Given the description of an element on the screen output the (x, y) to click on. 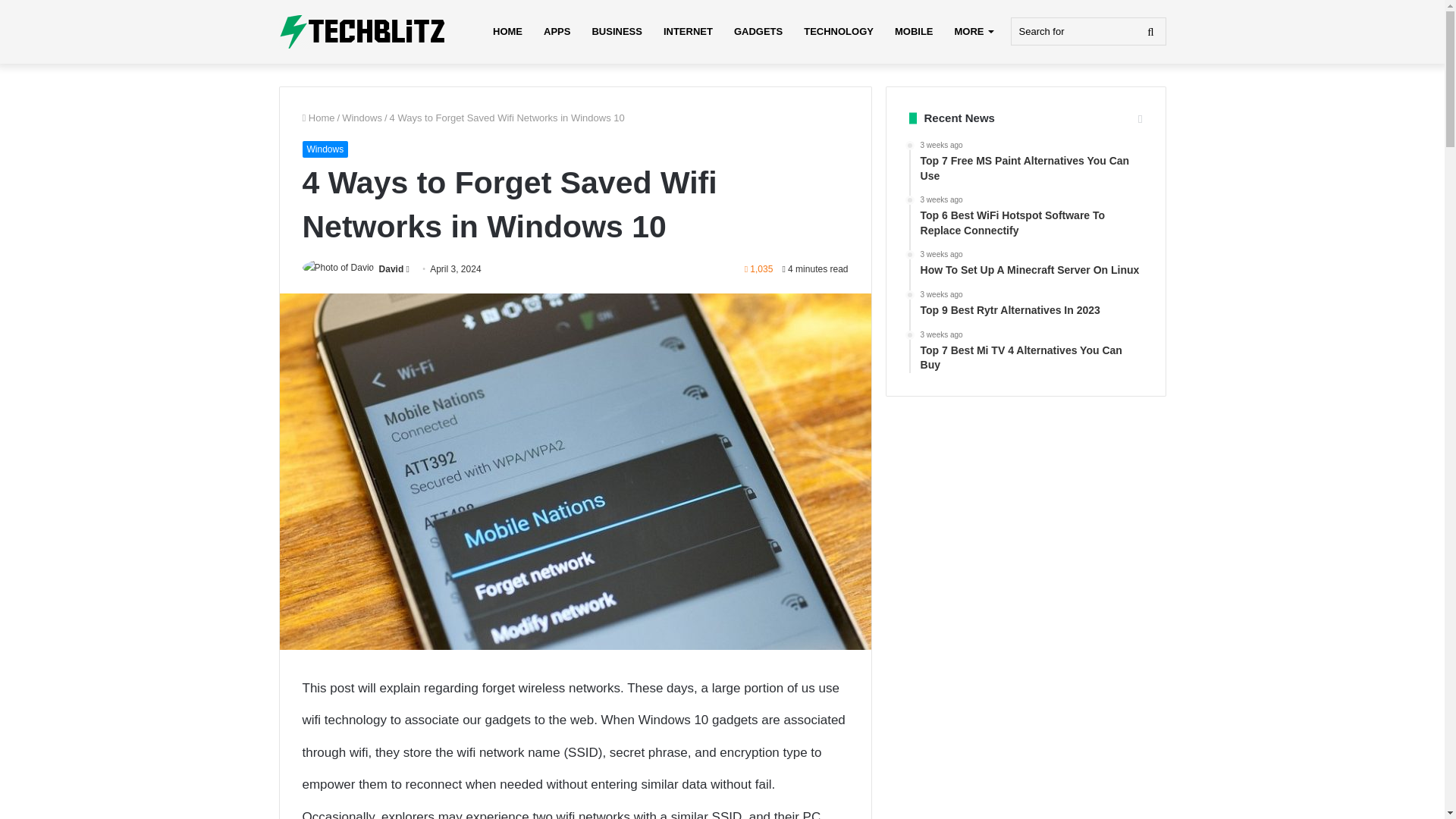
BUSINESS (616, 31)
David (391, 268)
David (391, 268)
Windows (324, 149)
Windows (361, 117)
INTERNET (687, 31)
TechBlitz (362, 31)
GADGETS (758, 31)
Search for (1088, 31)
TECHNOLOGY (838, 31)
